Given the description of an element on the screen output the (x, y) to click on. 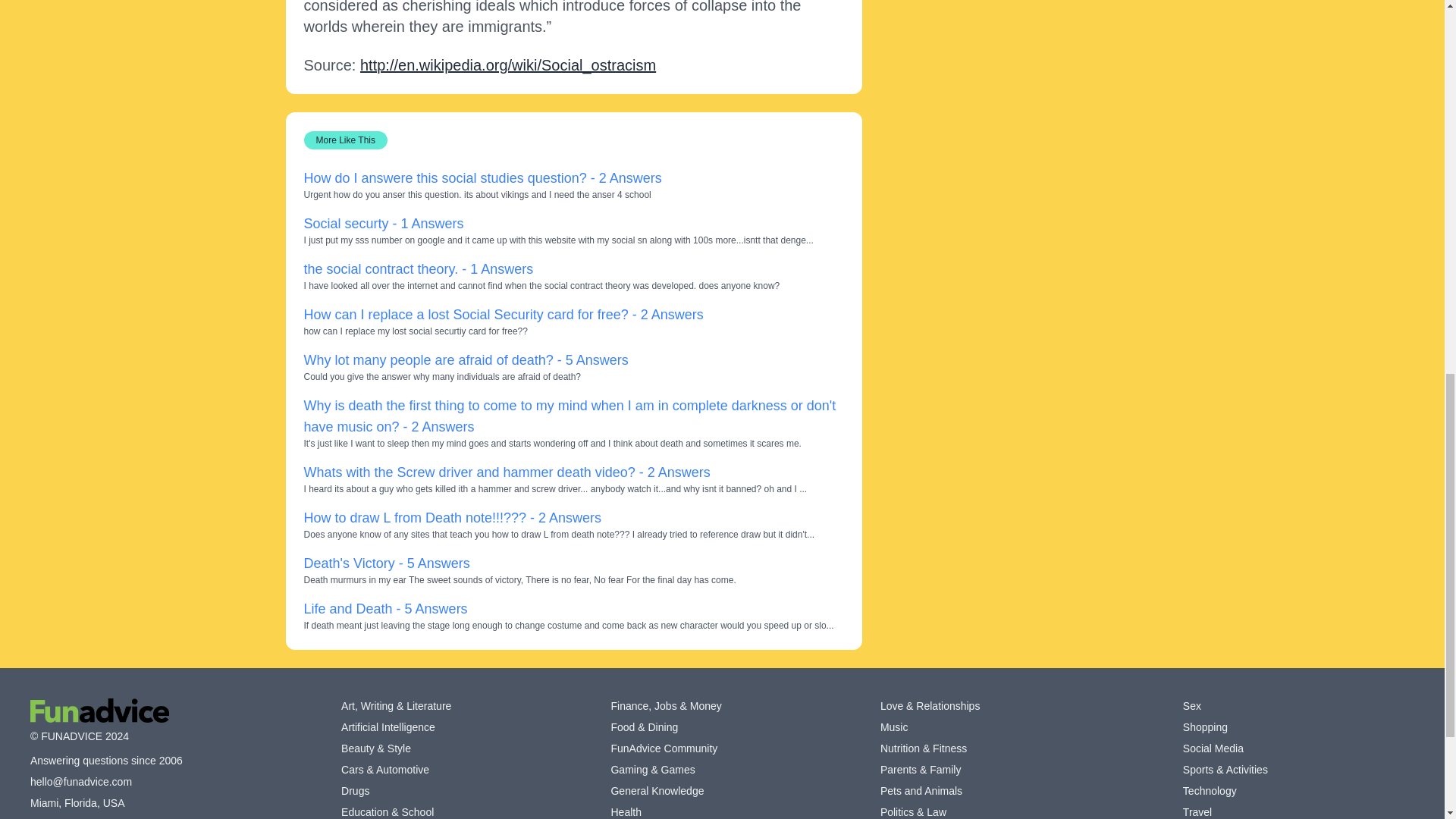
Death's Victory - 5 Answers (385, 563)
How do I answere this social studies question? - 2 Answers (481, 177)
Life and Death - 5 Answers (384, 608)
Artificial Intelligence (387, 726)
the social contract theory. - 1 Answers (417, 268)
How to draw L from Death note!!!??? - 2 Answers (451, 517)
Why lot many people are afraid of death? - 5 Answers (464, 359)
